Given the description of an element on the screen output the (x, y) to click on. 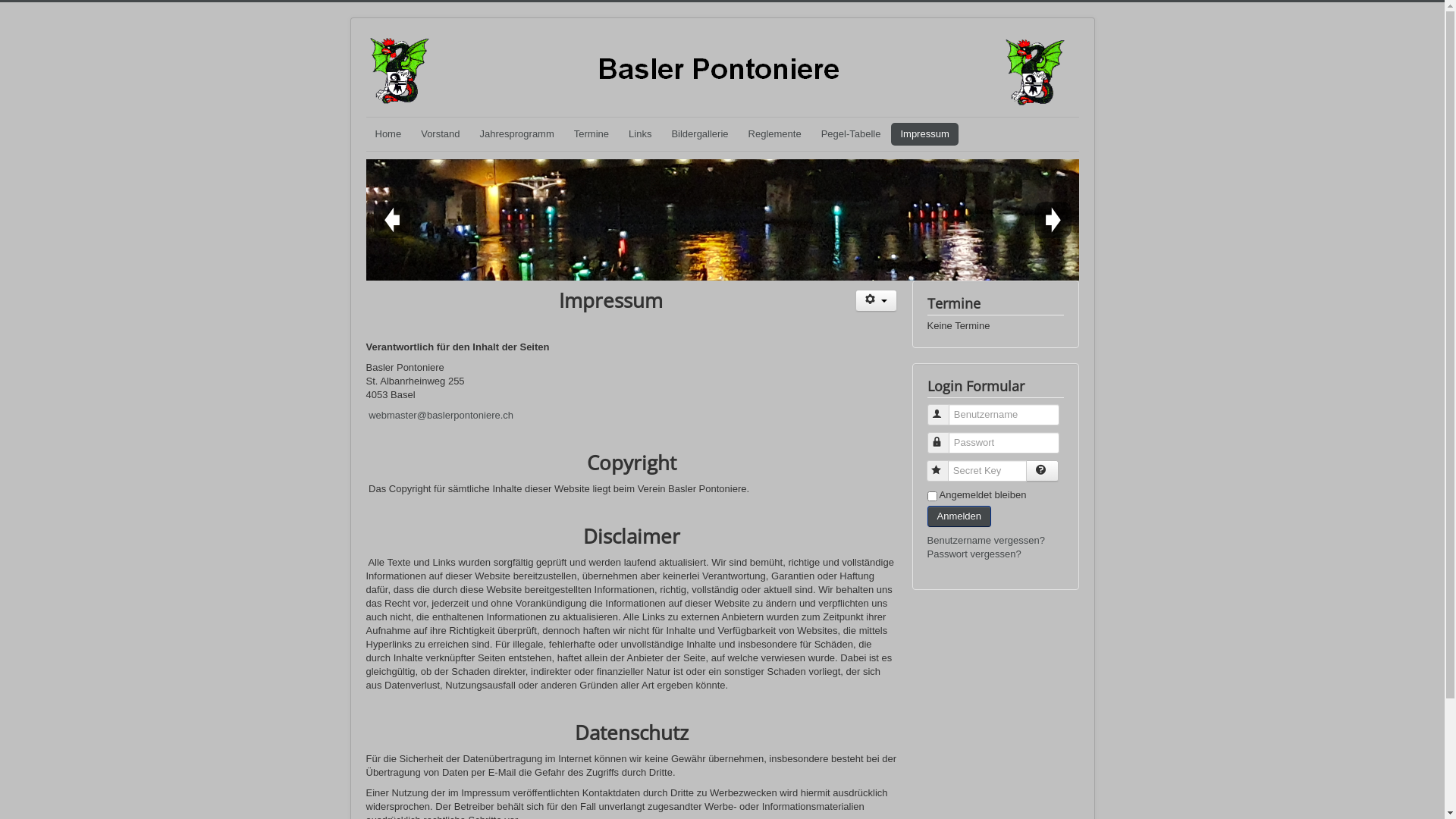
webmaster@baslerpontoniere.ch Element type: text (440, 414)
Links Element type: text (639, 133)
Impressum Element type: text (924, 133)
Jahresprogramm Element type: text (516, 133)
Home Element type: text (387, 133)
Reglemente Element type: text (774, 133)
Bildergallerie Element type: text (699, 133)
Termine Element type: text (591, 133)
Pegel-Tabelle Element type: text (851, 133)
Anmelden Element type: text (958, 516)
Vorstand Element type: text (439, 133)
Passwort vergessen? Element type: text (973, 553)
Benutzername vergessen? Element type: text (985, 540)
